Given the description of an element on the screen output the (x, y) to click on. 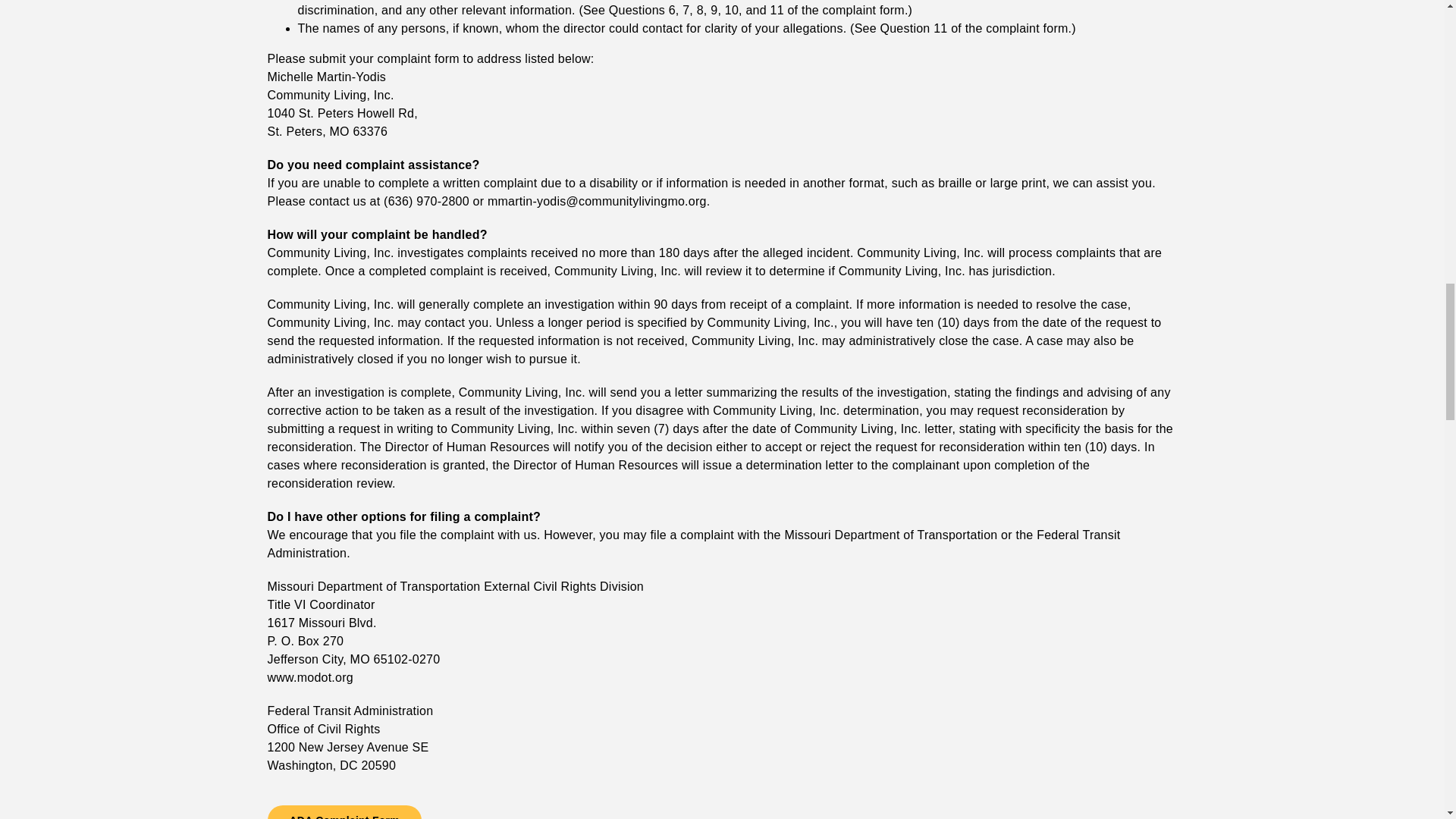
ADA Complaint Form (343, 812)
